Given the description of an element on the screen output the (x, y) to click on. 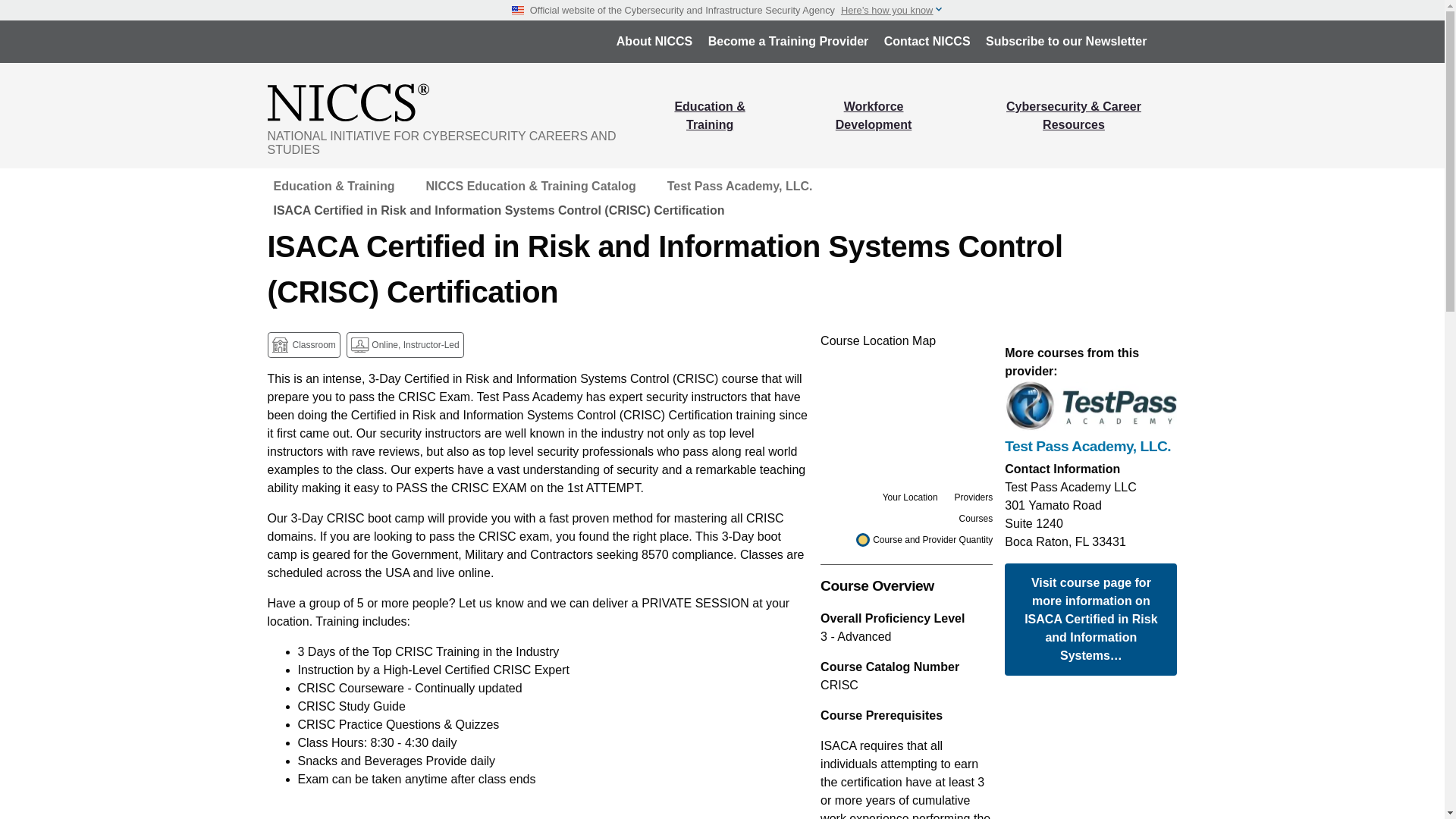
Become a Training Provider (788, 41)
About NICCS (654, 41)
Test Pass Academy, LLC. (739, 186)
About NICCS (654, 41)
More courses from Test Pass Academy, LLC. (1090, 445)
Subscribe to our Newsletter (1066, 41)
Workforce Development (873, 115)
Become a Training Provider (788, 41)
Test Pass Academy, LLC. (1090, 445)
